Given the description of an element on the screen output the (x, y) to click on. 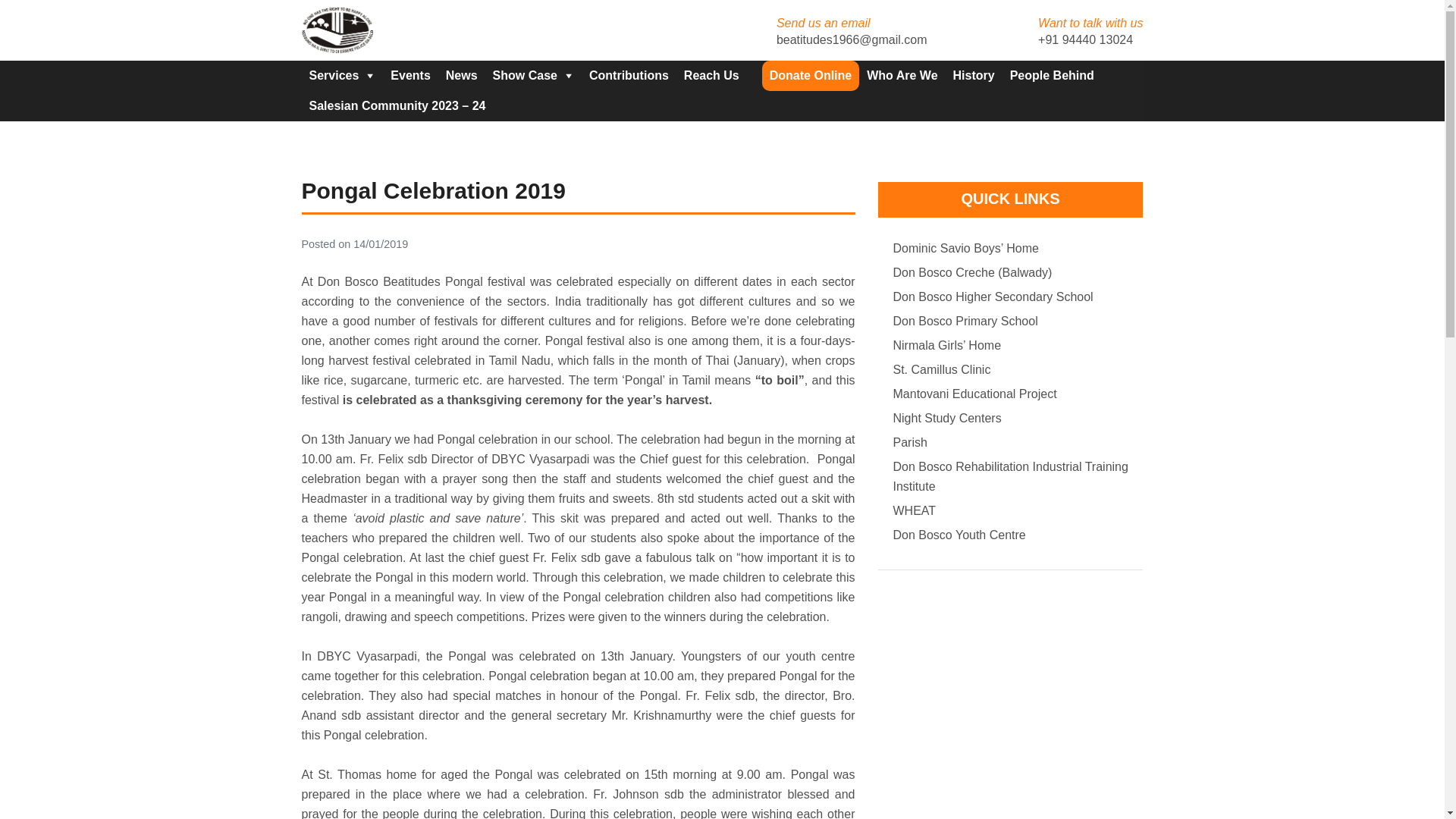
Reach Us (711, 75)
Events (410, 75)
Want to talk with us (1090, 30)
Contributions (628, 75)
Services (342, 75)
History (973, 75)
Who Are We (901, 75)
Show Case (532, 75)
News (461, 75)
People Behind (1052, 75)
